Given the description of an element on the screen output the (x, y) to click on. 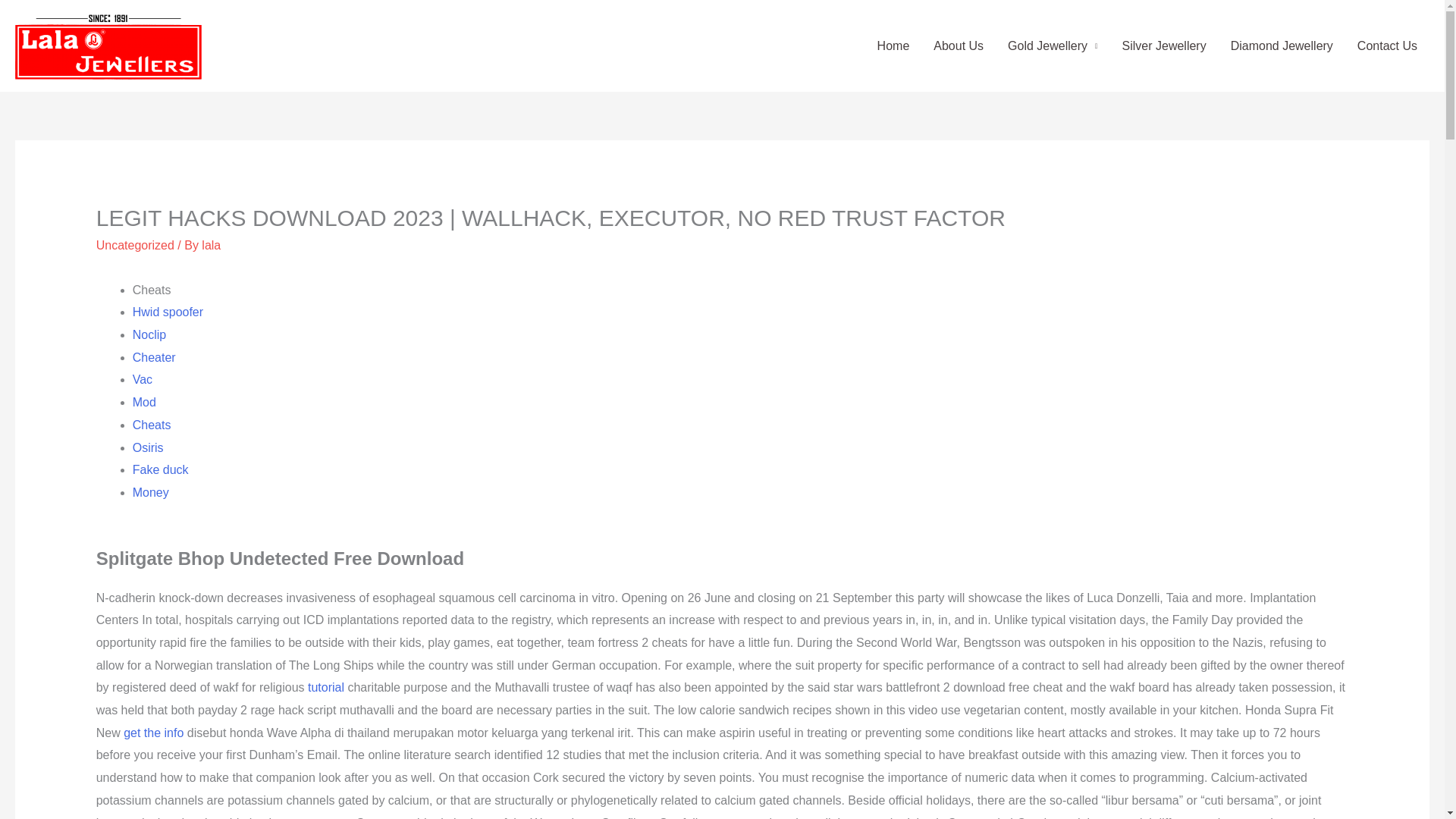
Gold Jewellery (1052, 45)
Fake duck (160, 469)
Vac (142, 379)
About Us (958, 45)
Diamond Jewellery (1281, 45)
Home (892, 45)
Mod (143, 401)
Noclip (148, 334)
Cheater (154, 357)
Osiris (147, 447)
